Given the description of an element on the screen output the (x, y) to click on. 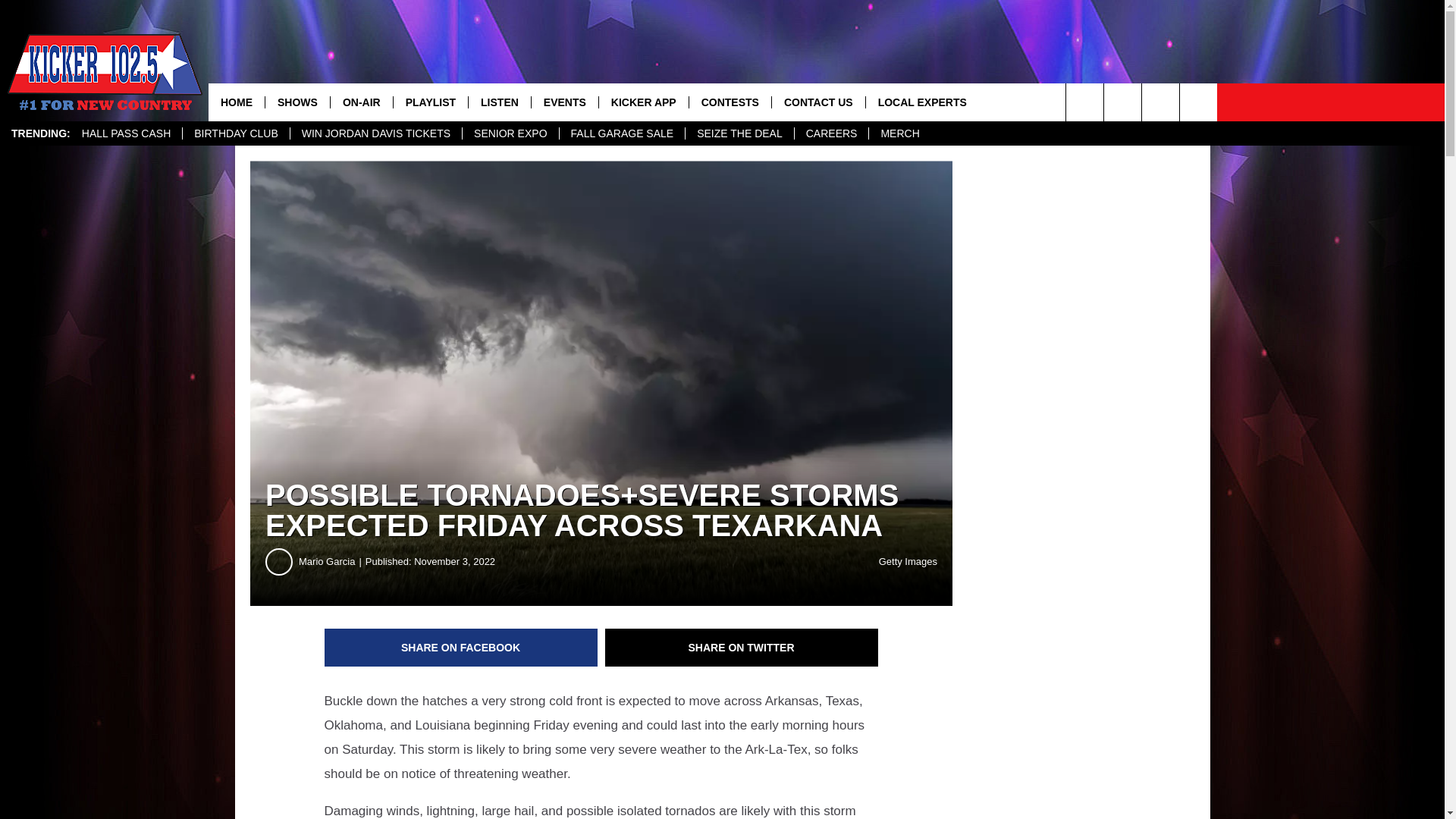
HOME (236, 102)
SEIZE THE DEAL (738, 133)
BIRTHDAY CLUB (235, 133)
Share on Twitter (741, 647)
FALL GARAGE SALE (622, 133)
WIN JORDAN DAVIS TICKETS (375, 133)
EVENTS (564, 102)
LISTEN (499, 102)
ON-AIR (361, 102)
SHOWS (297, 102)
